Given the description of an element on the screen output the (x, y) to click on. 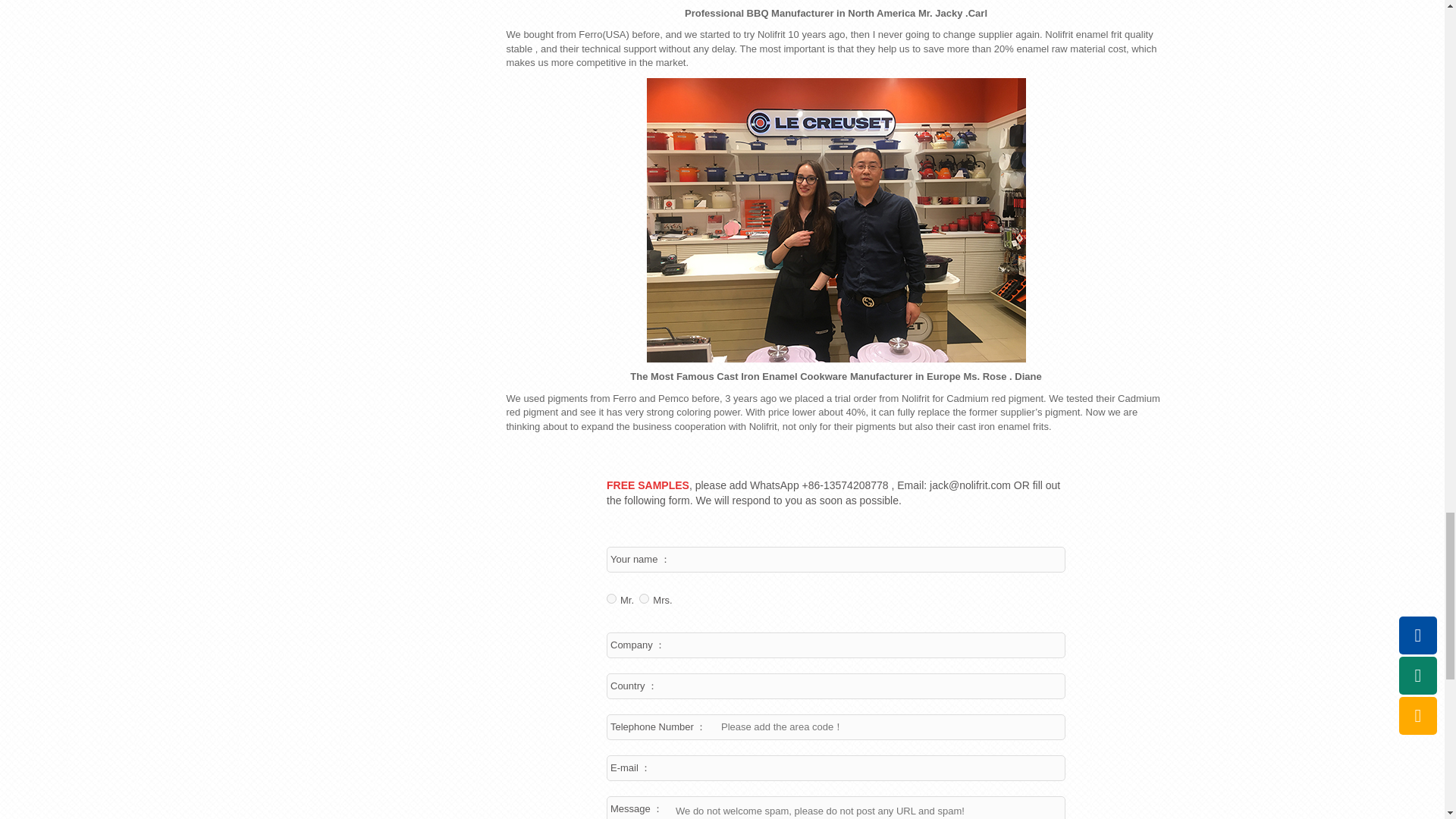
0 (644, 598)
1 (611, 598)
